Given the description of an element on the screen output the (x, y) to click on. 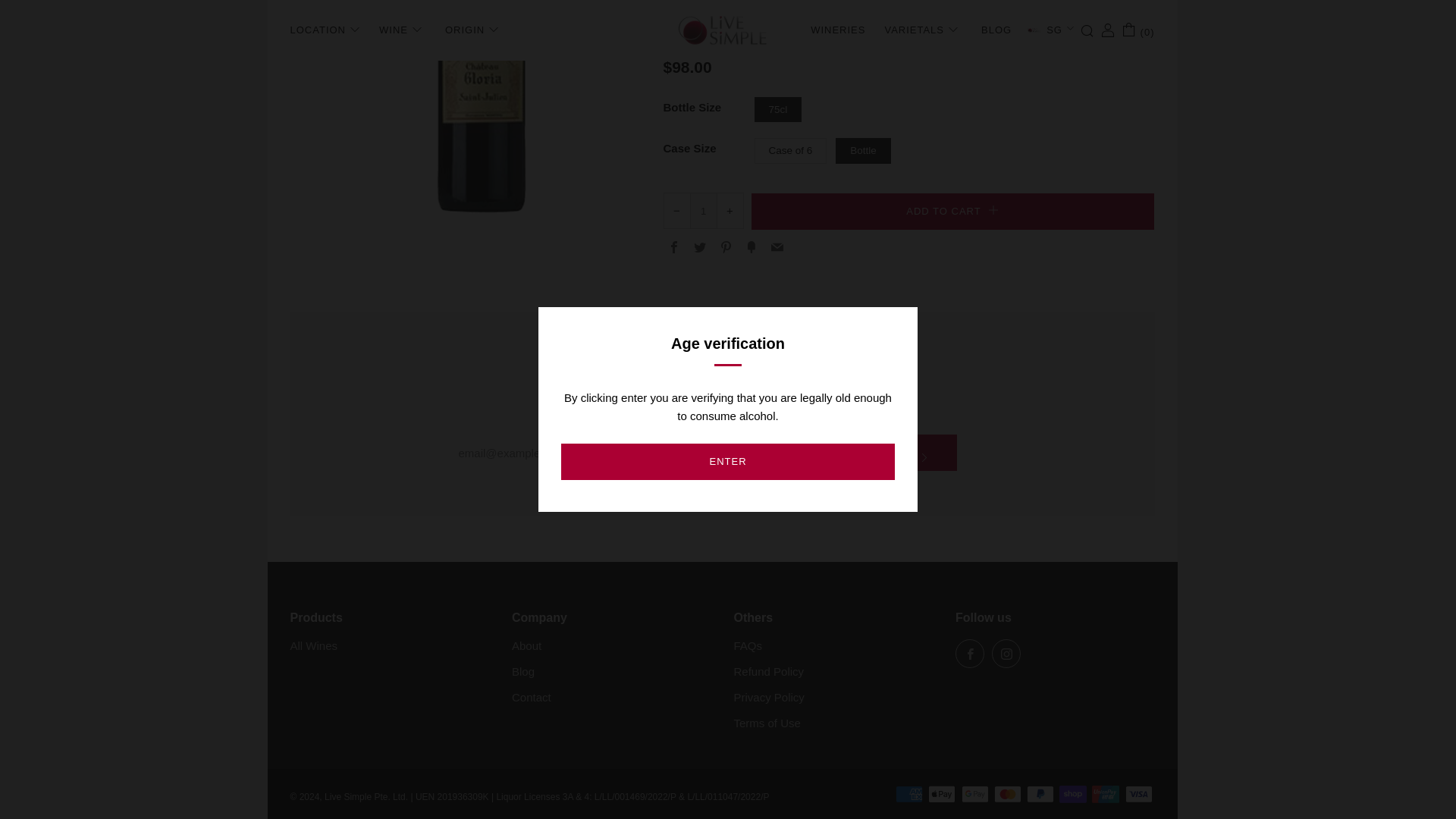
ENTER (727, 5)
